Given the description of an element on the screen output the (x, y) to click on. 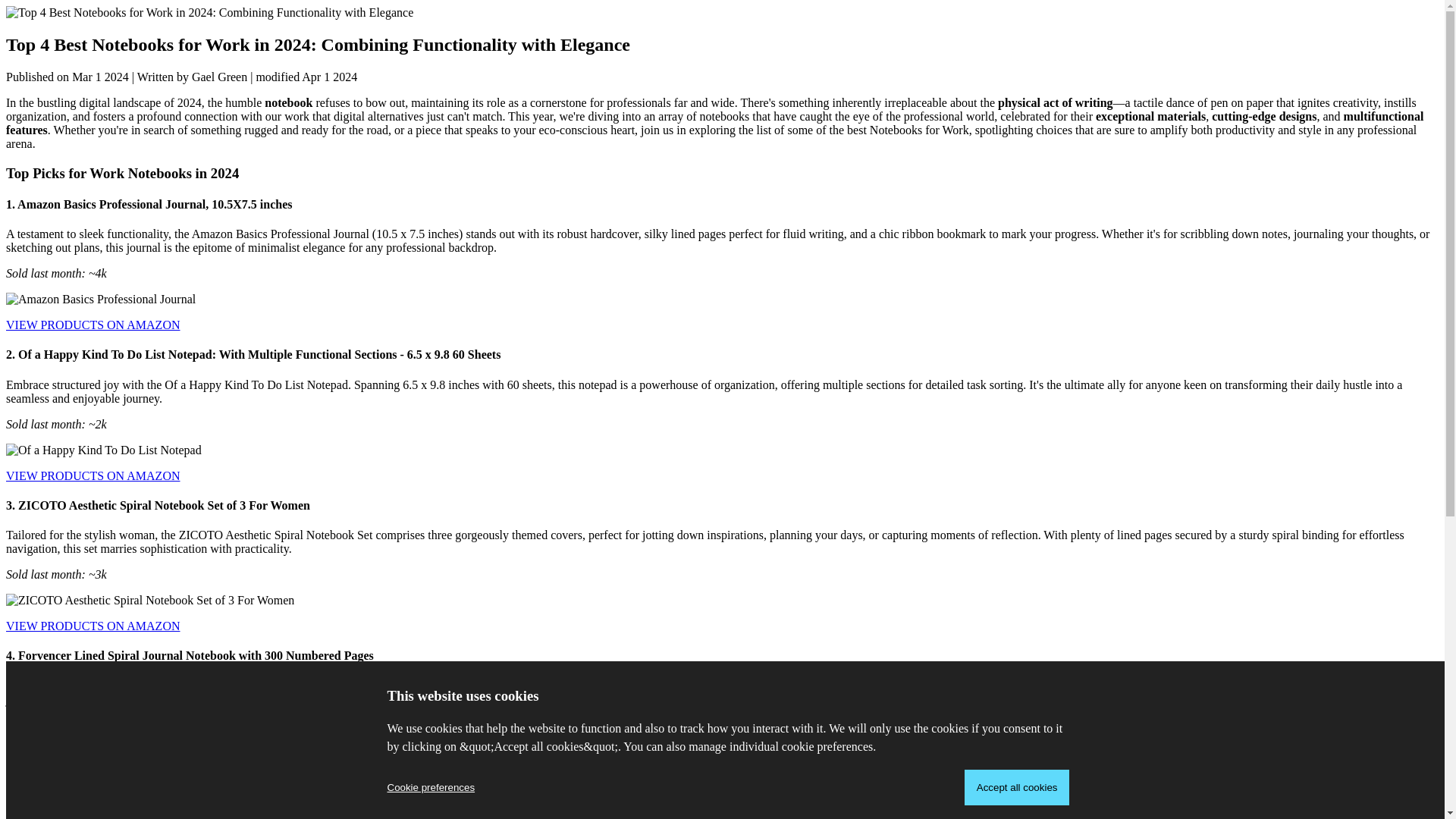
VIEW PRODUCTS ON AMAZON (92, 475)
VIEW PRODUCTS ON AMAZON (92, 625)
Cookie preferences (430, 787)
VIEW PRODUCTS ON AMAZON (92, 776)
VIEW PRODUCTS ON AMAZON (92, 324)
Accept all cookies (1016, 787)
